Given the description of an element on the screen output the (x, y) to click on. 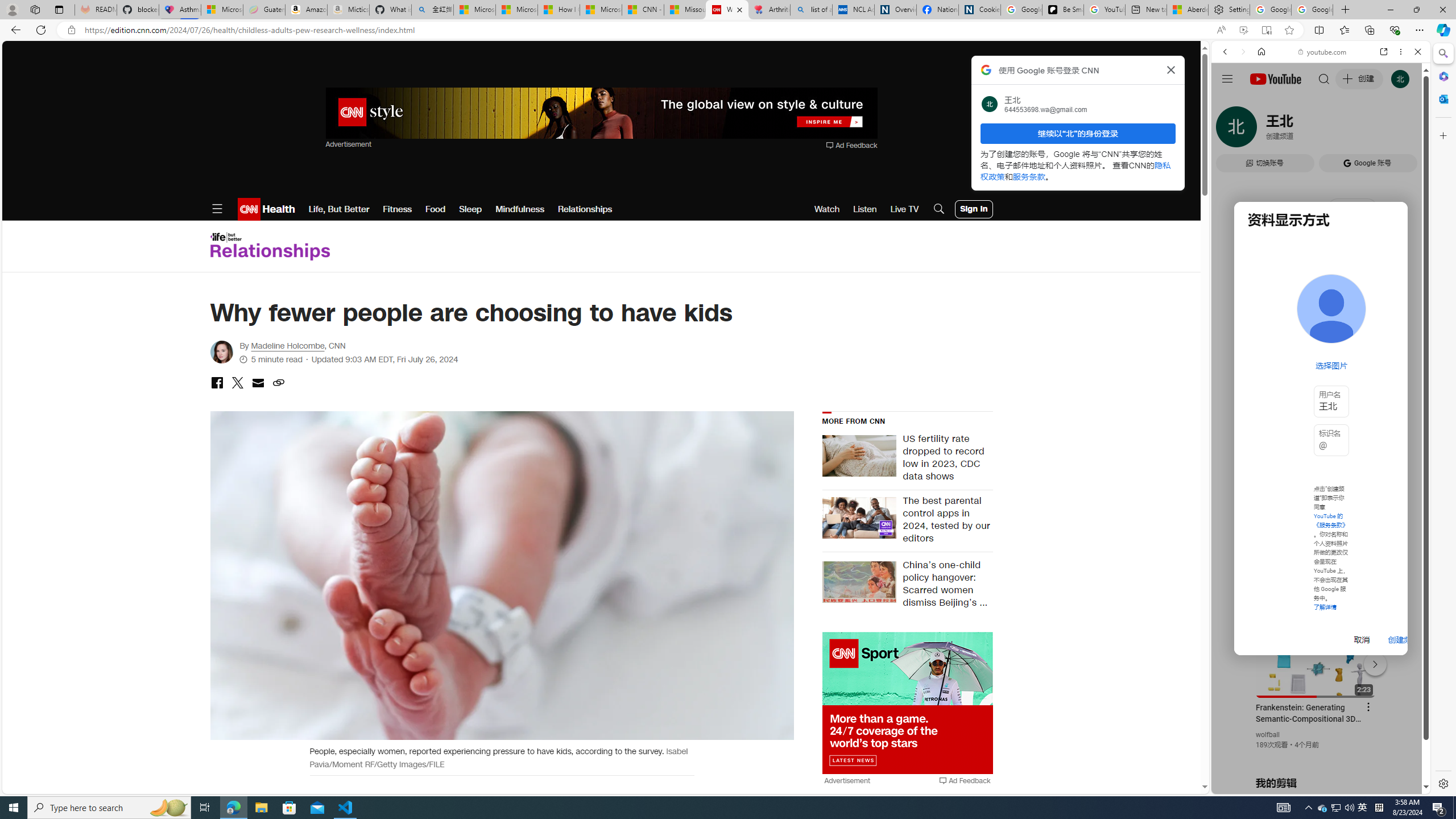
Click to scroll right (1407, 456)
share with x (237, 383)
Food (435, 209)
Search Icon (938, 208)
Relationships (584, 209)
Life, But Better - Relationships (269, 245)
US[ju] (1249, 785)
Life, But Better - Relationships (269, 245)
Open Menu Icon (216, 208)
